Given the description of an element on the screen output the (x, y) to click on. 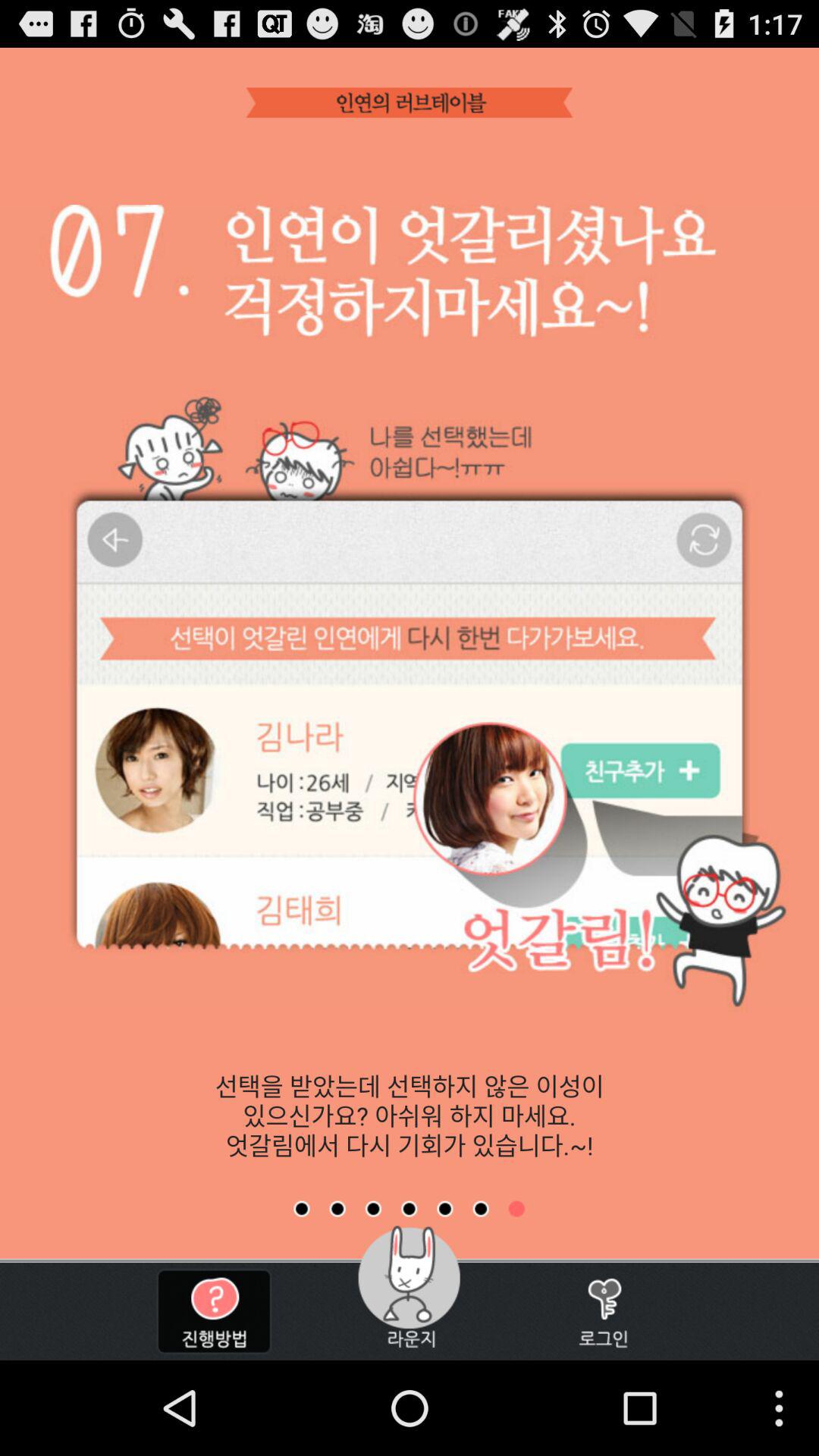
help (213, 1311)
